Given the description of an element on the screen output the (x, y) to click on. 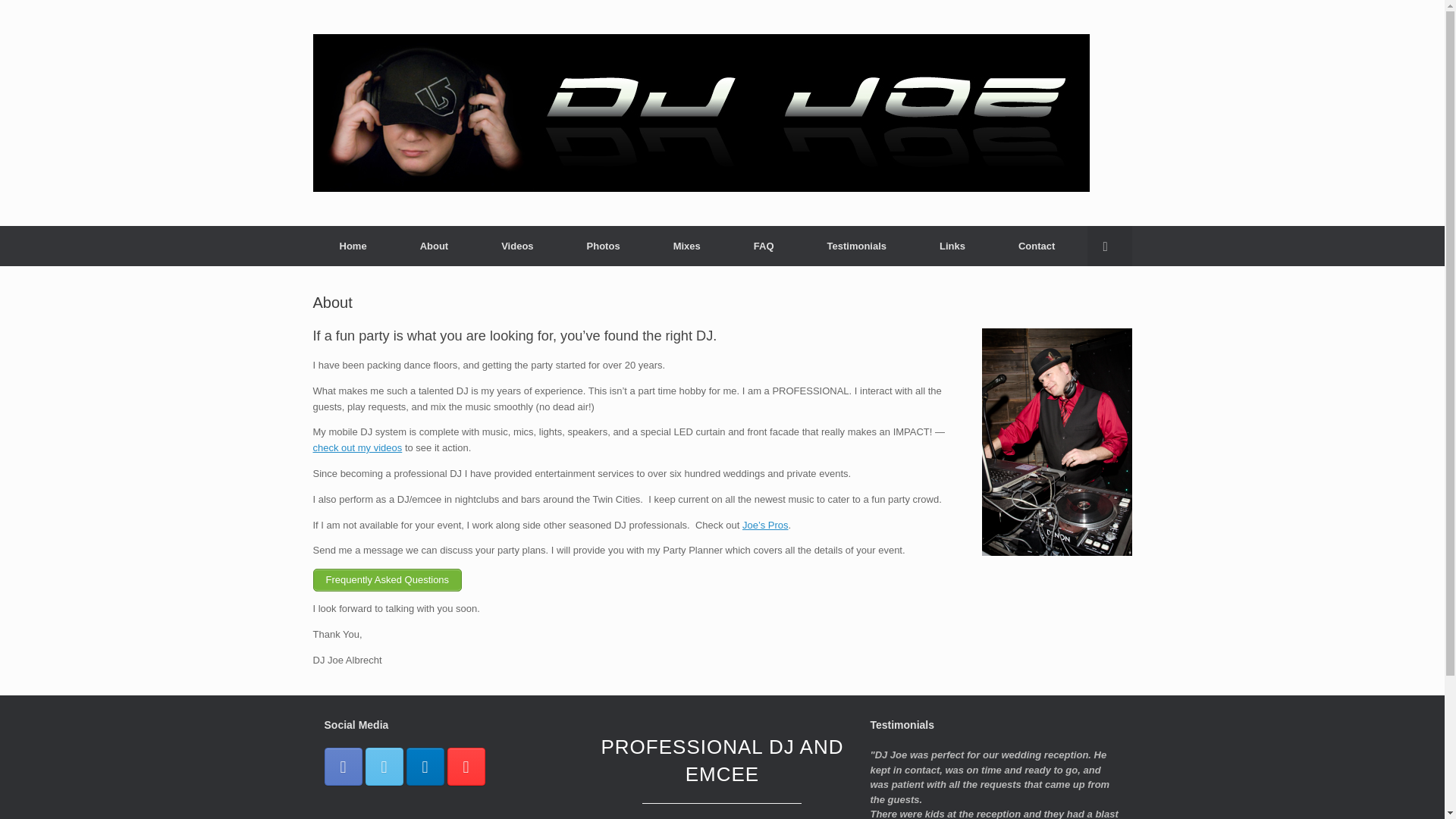
About (434, 246)
DJ Joe MPLS Twitter (384, 766)
Testimonials (857, 246)
Links (951, 246)
DJ Joe MPLS Facebook (343, 766)
DJ Joe MPLS LinkedIn (425, 766)
Photos (603, 246)
Videos (357, 447)
Contact (1036, 246)
DJ Joe MPLS (701, 112)
DJ Joe MPLS YouTube (465, 766)
Frequently Asked Questions (387, 579)
Videos (516, 246)
FAQ (763, 246)
check out my videos (357, 447)
